Given the description of an element on the screen output the (x, y) to click on. 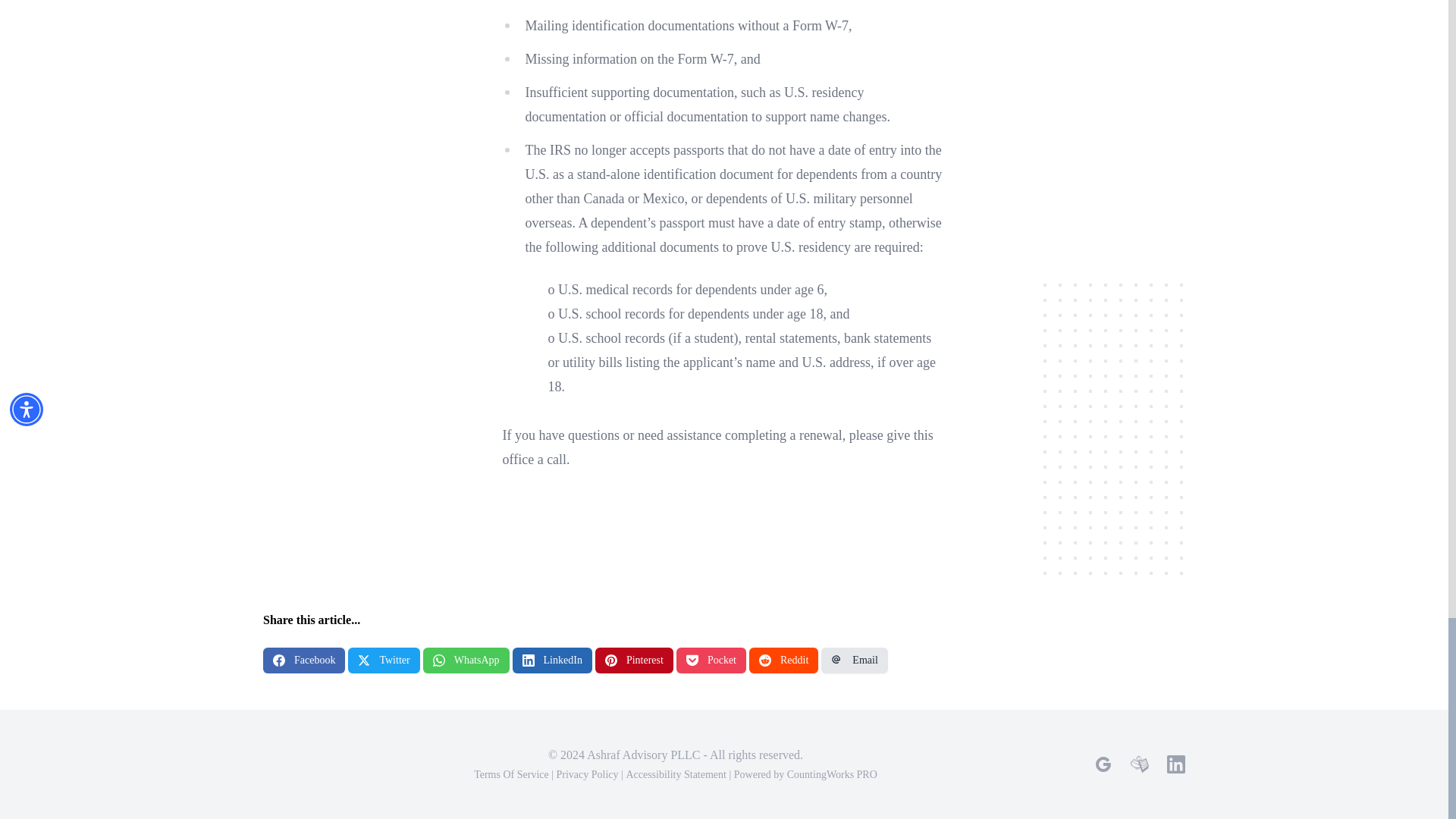
Facebook (304, 660)
